Given the description of an element on the screen output the (x, y) to click on. 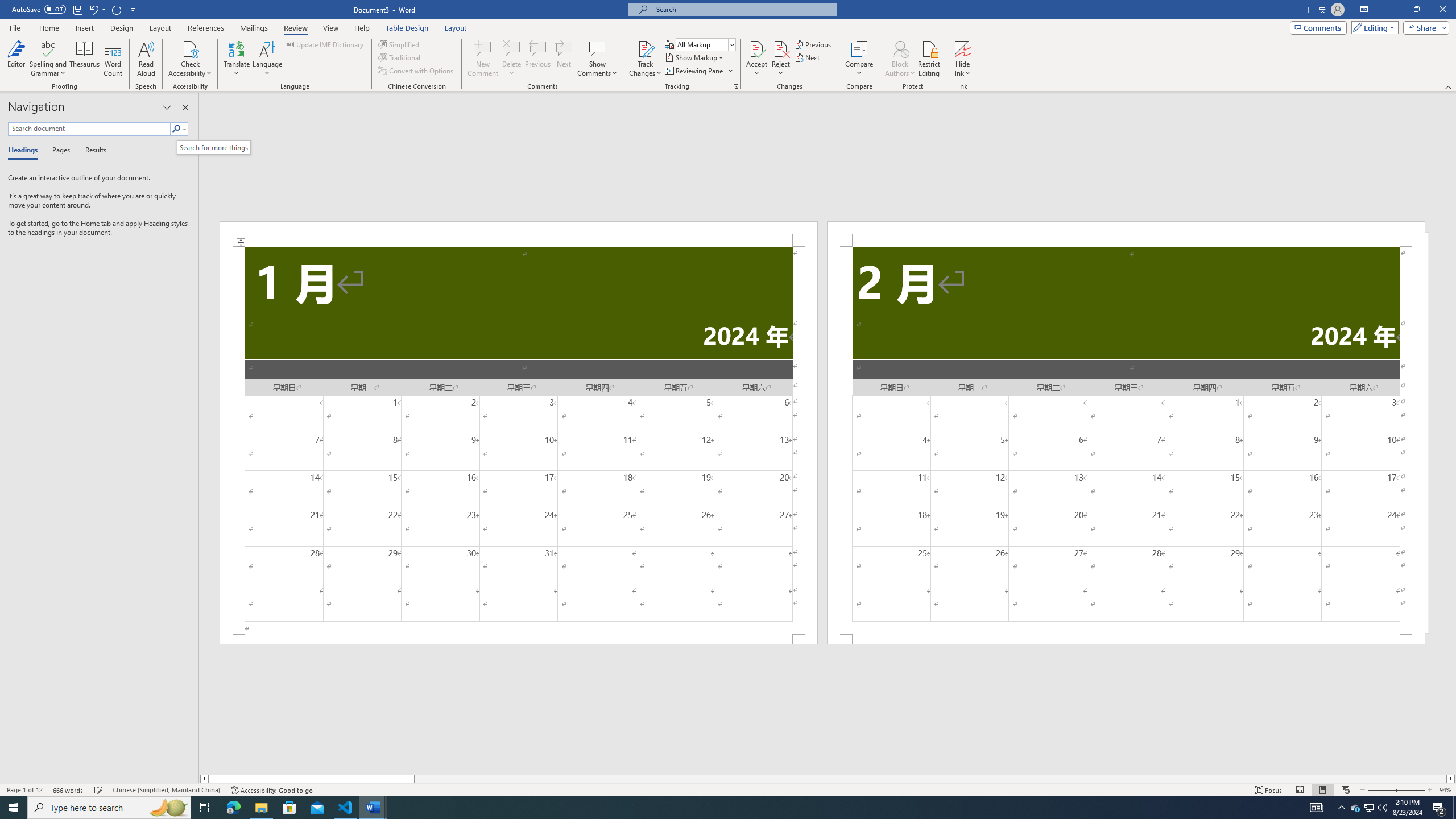
Accept (756, 58)
Header -Section 2- (1126, 233)
Search for more things (213, 147)
Track Changes (644, 48)
Reject (780, 58)
Block Authors (900, 58)
